Given the description of an element on the screen output the (x, y) to click on. 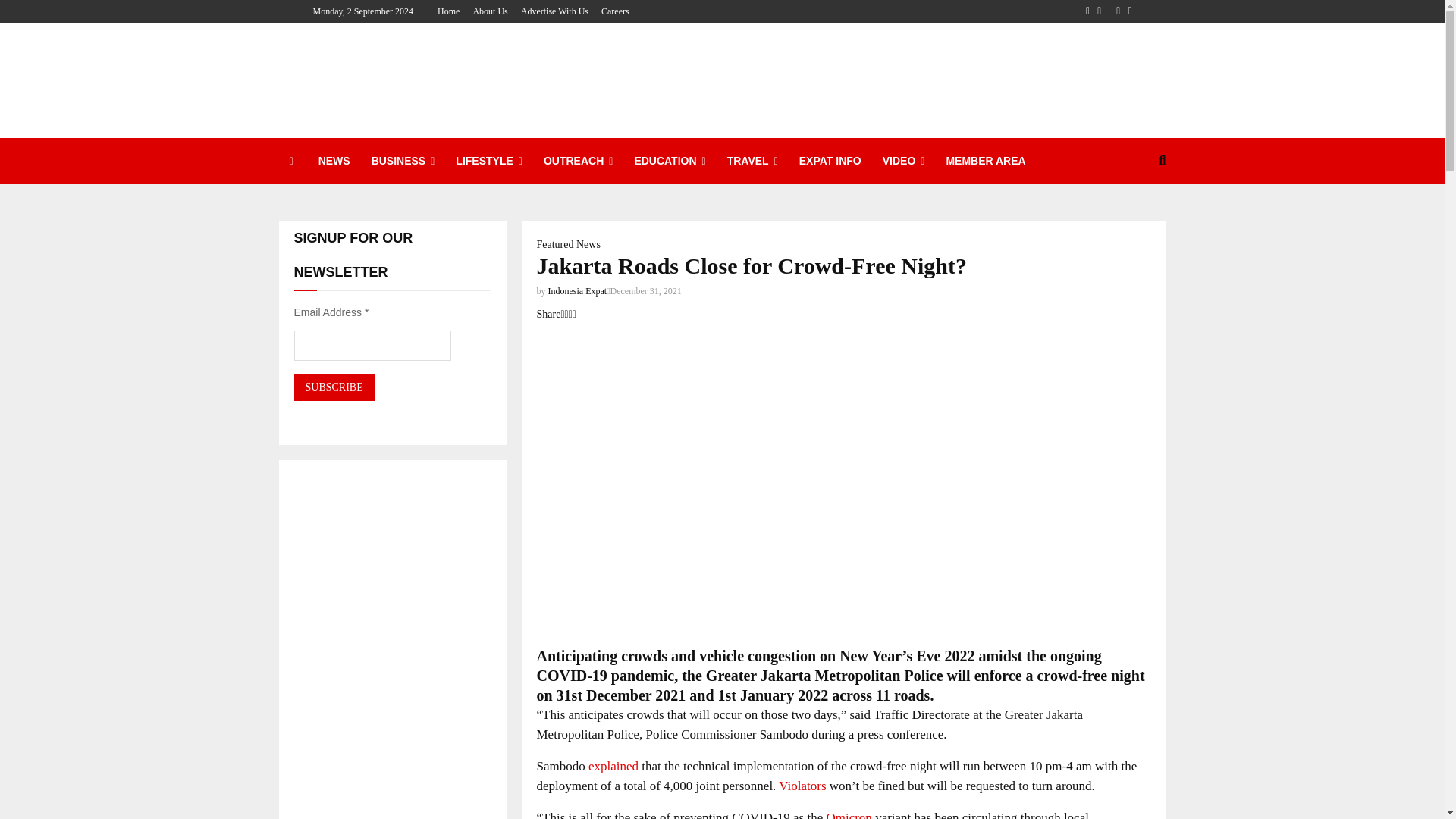
Careers (614, 11)
TRAVEL (752, 160)
Advertise With Us (554, 11)
Subscribe (334, 387)
EXPAT INFO (830, 160)
NEWS (334, 160)
BUSINESS (403, 160)
MEMBER AREA (984, 160)
LIFESTYLE (488, 160)
Home (449, 11)
